Given the description of an element on the screen output the (x, y) to click on. 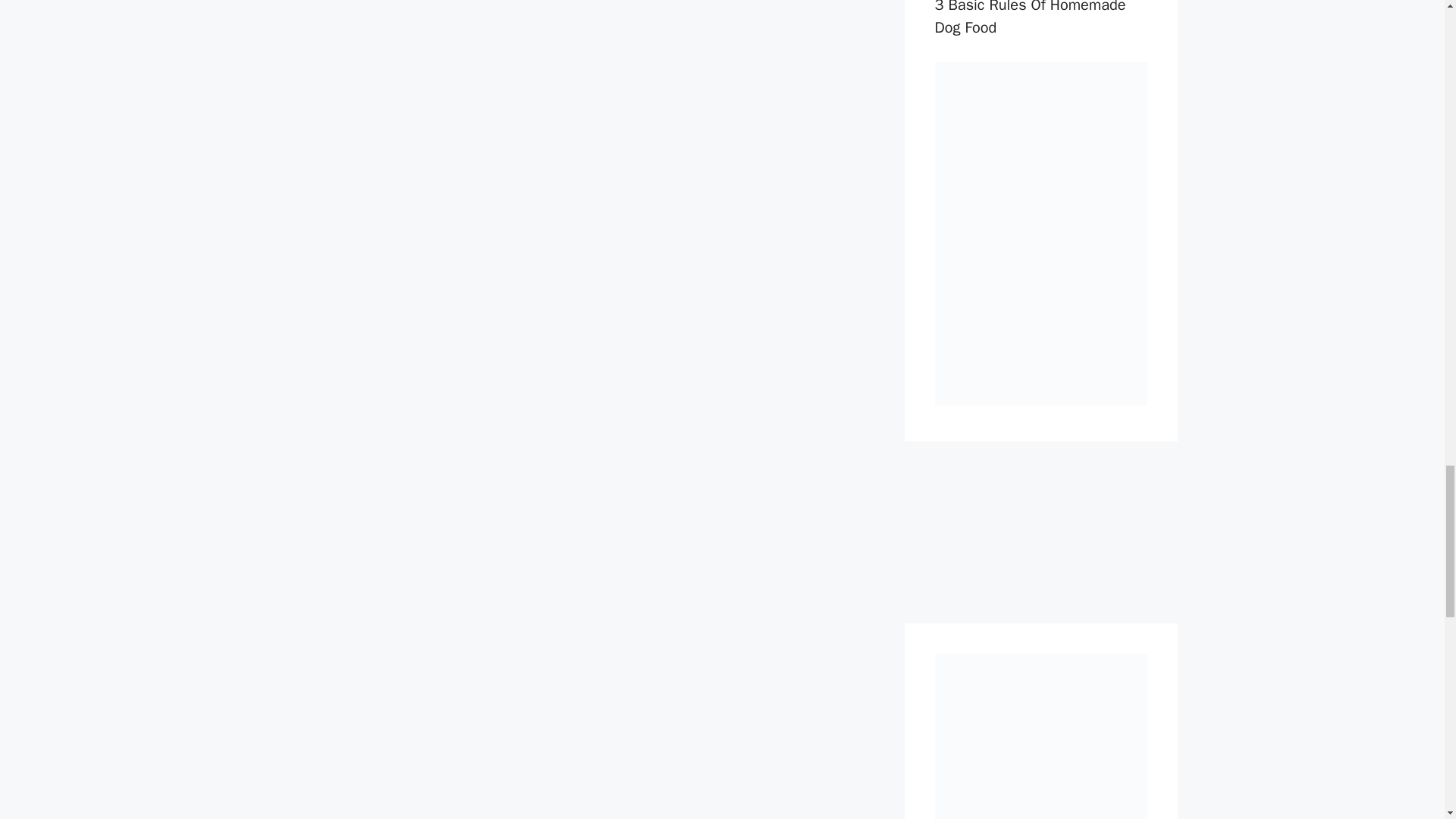
Advertisement (1040, 532)
